Given the description of an element on the screen output the (x, y) to click on. 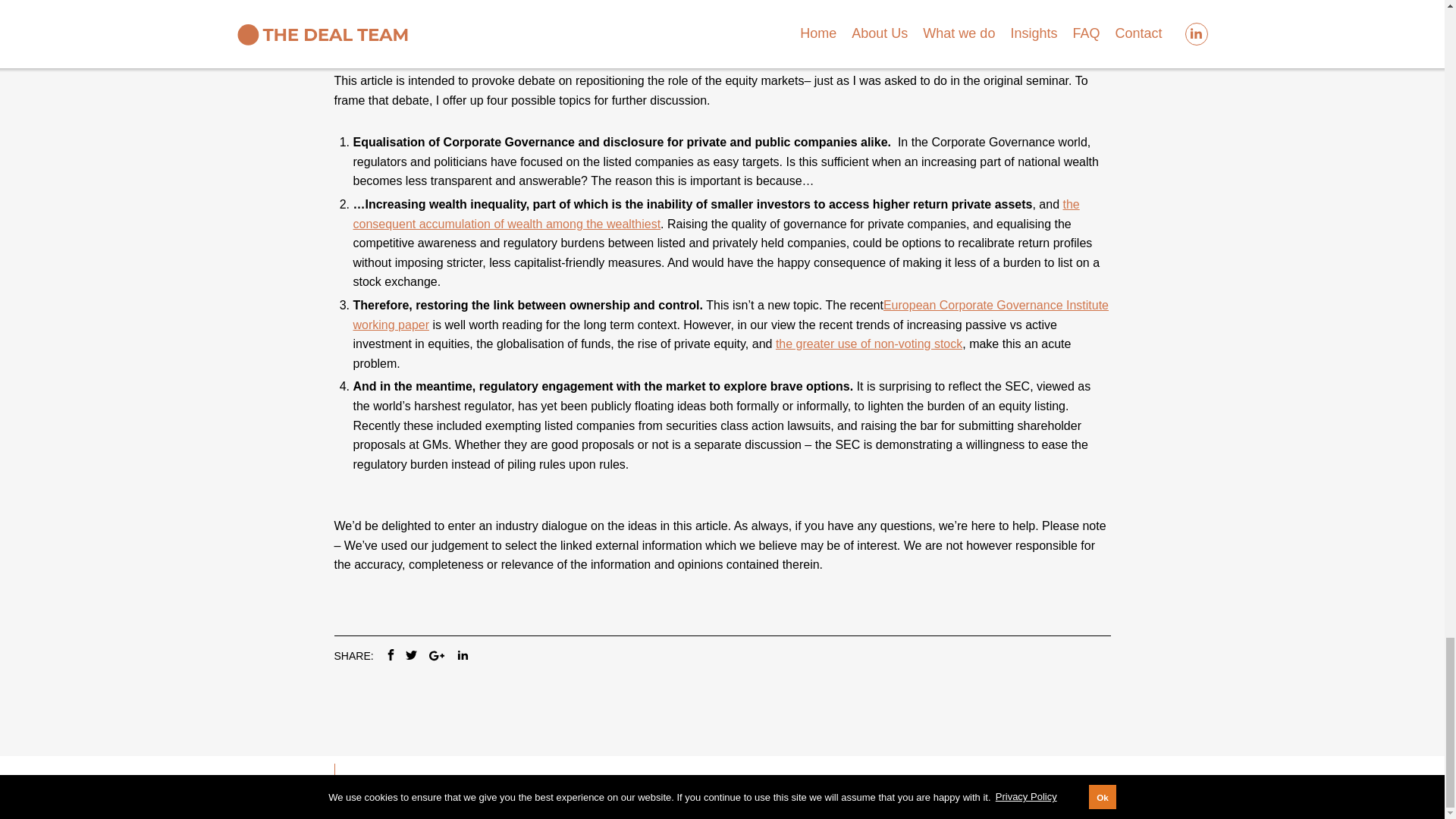
Share on LinkedIn (462, 662)
Share on Facebook (385, 662)
European Corporate Governance Institute working paper (731, 316)
the greater use of non-voting stock (869, 344)
the consequent accumulation of wealth among the wealthiest (716, 216)
Tweet (410, 662)
